Given the description of an element on the screen output the (x, y) to click on. 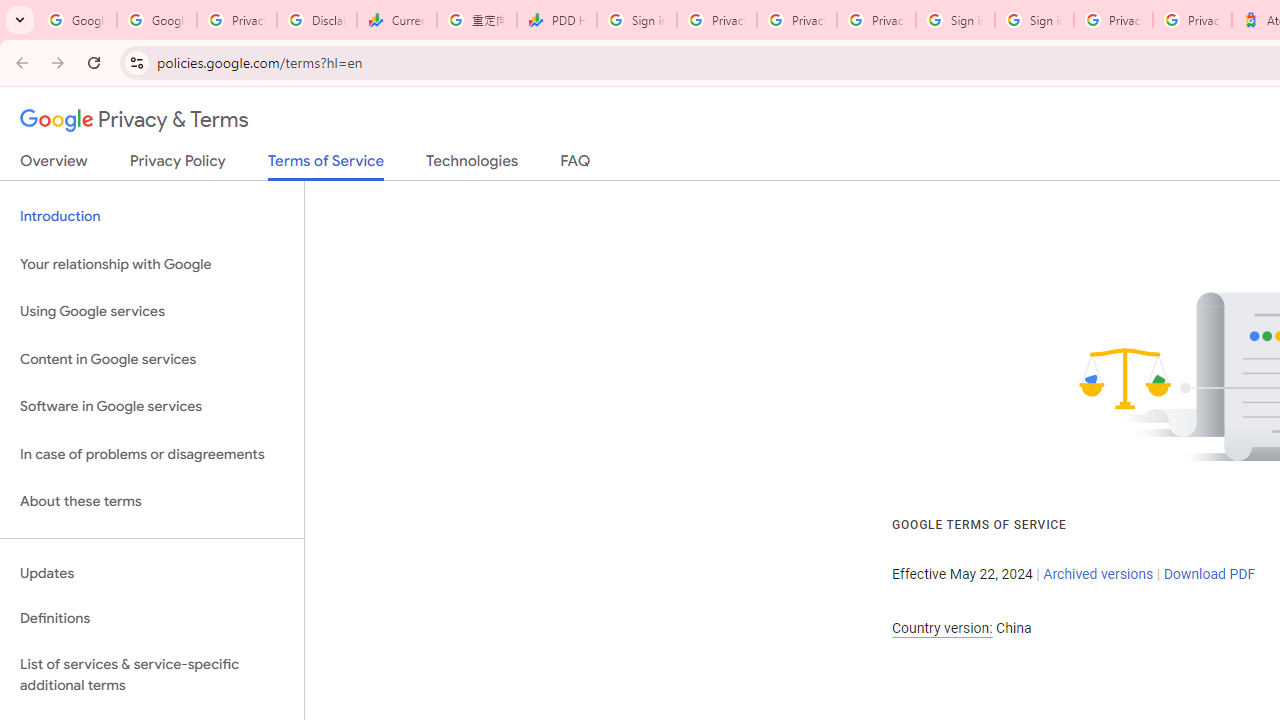
Currencies - Google Finance (396, 20)
Google Workspace Admin Community (76, 20)
Sign in - Google Accounts (636, 20)
Your relationship with Google (152, 263)
